Given the description of an element on the screen output the (x, y) to click on. 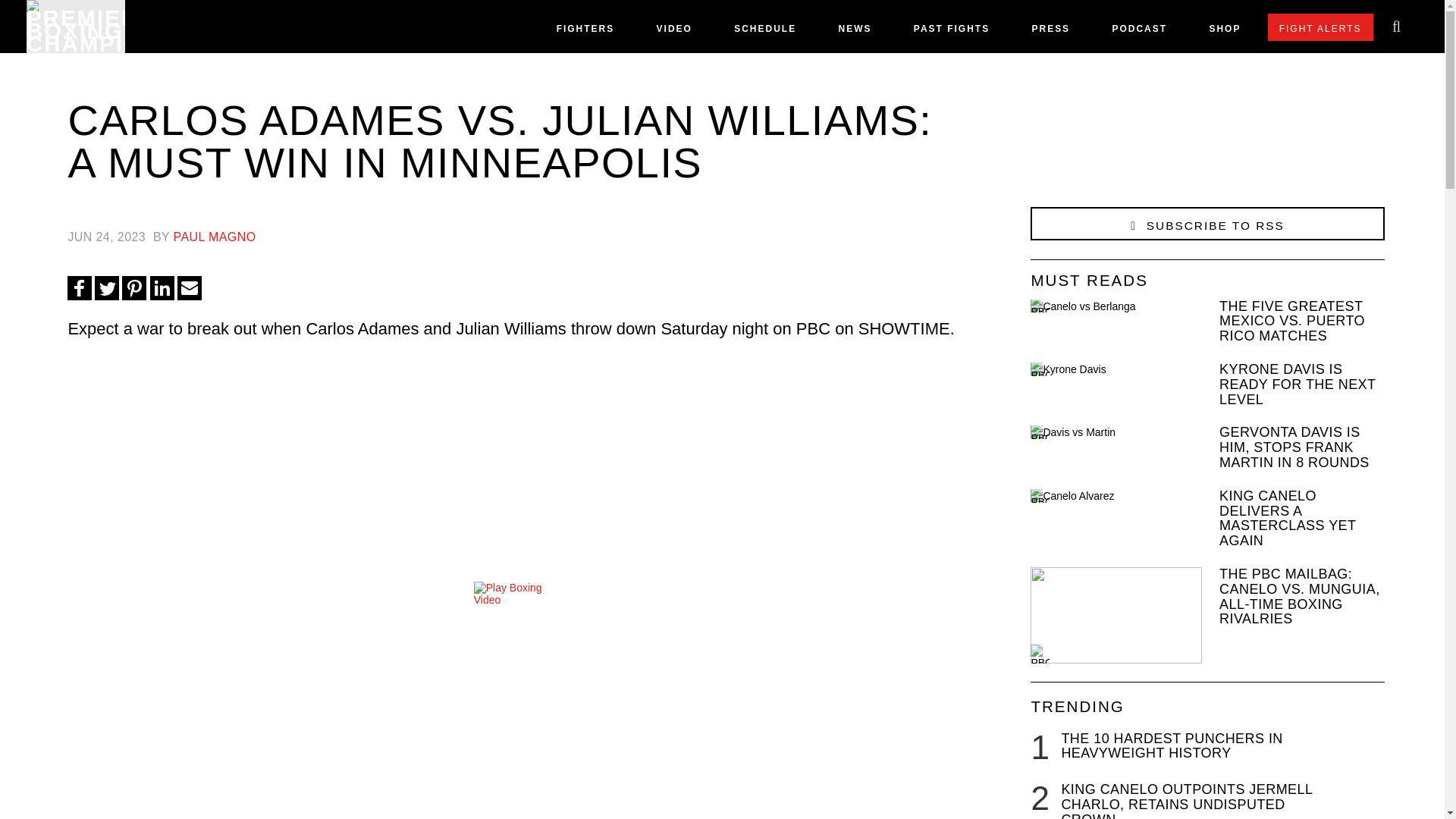
Pinterest (134, 288)
Facebook (78, 288)
SHOP (1224, 31)
PRESS (1050, 31)
Email (189, 288)
Facebook (78, 288)
KING CANELO DELIVERS A MASTERCLASS YET AGAIN (1207, 518)
KYRONE DAVIS IS READY FOR THE NEXT LEVEL (1207, 384)
PAST FIGHTS (952, 31)
LinkedIn (161, 288)
